Given the description of an element on the screen output the (x, y) to click on. 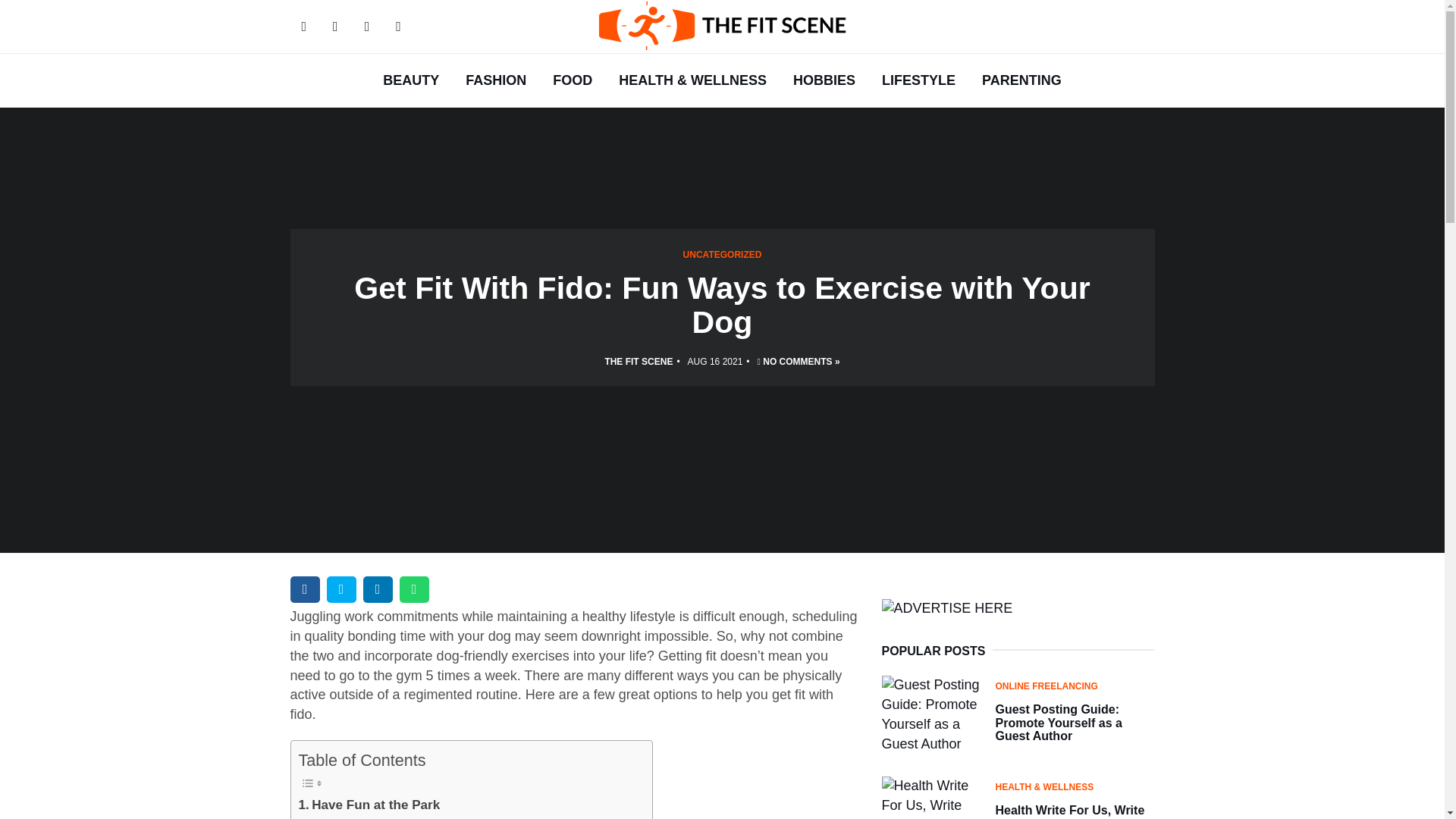
Lifestyle (918, 80)
Have Fun at the Park (369, 804)
FOOD (572, 80)
Hobbies (823, 80)
Parenting (1022, 80)
BEAUTY (410, 80)
HOBBIES (823, 80)
Fashion (495, 80)
Test the Waters (352, 816)
LIFESTYLE (918, 80)
FASHION (495, 80)
UNCATEGORIZED (721, 254)
THE FIT SCENE (638, 361)
Food (572, 80)
Beauty (410, 80)
